Given the description of an element on the screen output the (x, y) to click on. 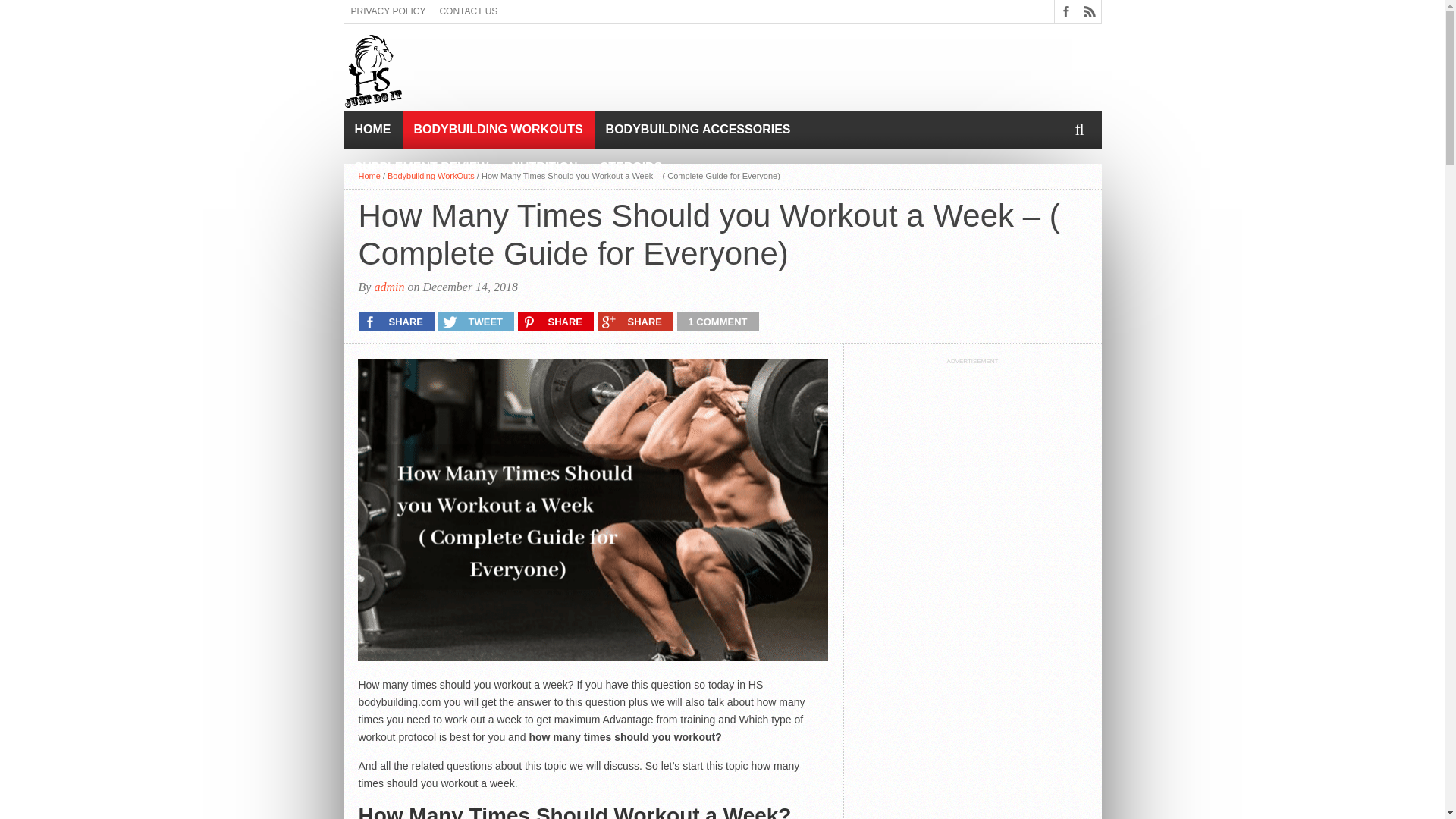
SUPPLEMENT REVIEW (420, 167)
NUTRITION (543, 167)
CONTACT US (467, 11)
Home (369, 175)
Posts by admin (389, 286)
BODYBUILDING WORKOUTS (497, 129)
Bodybuilding WorkOuts (430, 175)
PRIVACY POLICY (387, 11)
STEROIDS (631, 167)
HOME (371, 129)
